Given the description of an element on the screen output the (x, y) to click on. 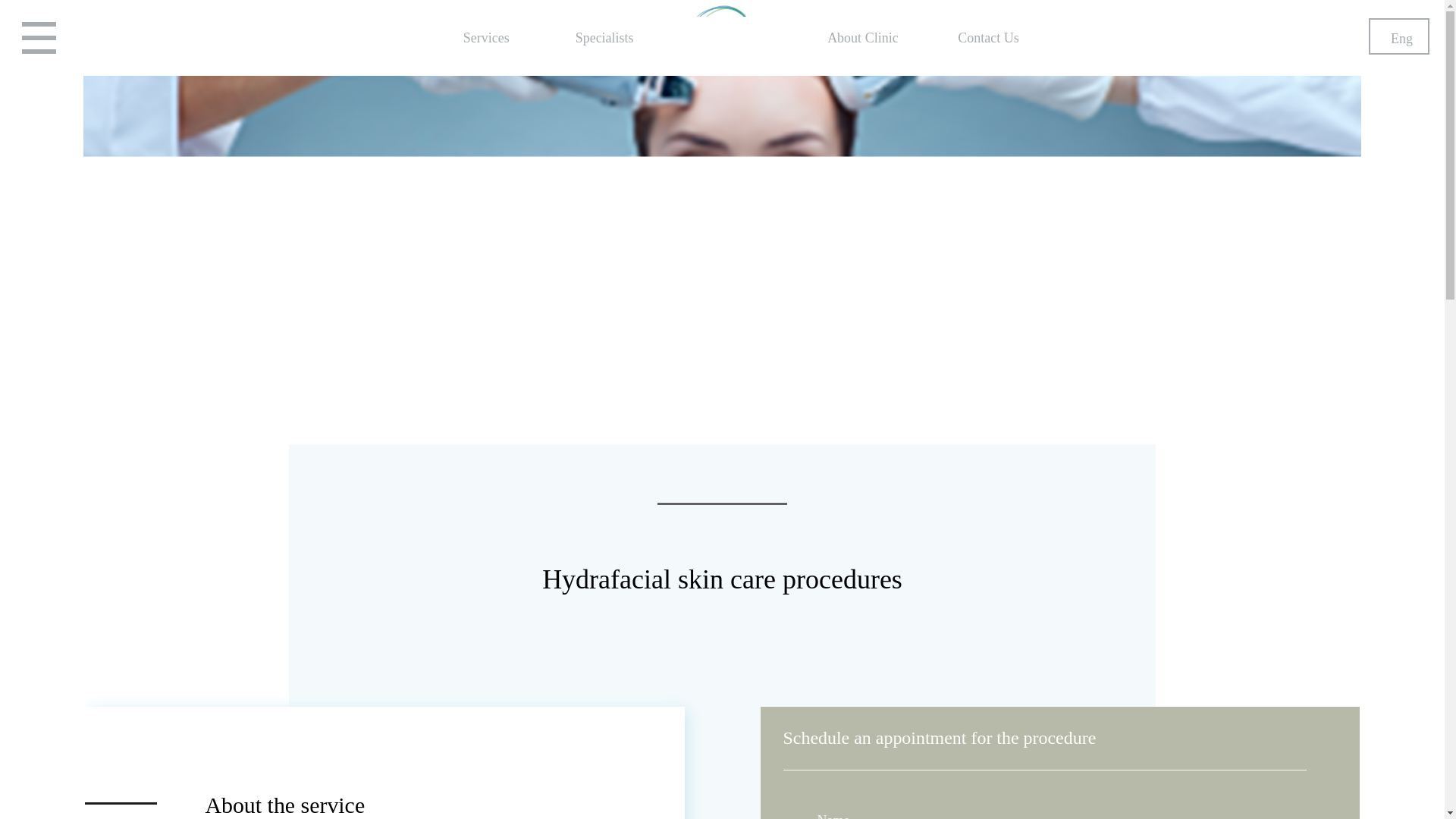
About Clinic (862, 41)
Specialists (604, 41)
Eng (1398, 36)
Services (486, 41)
Contact Us (988, 41)
